Given the description of an element on the screen output the (x, y) to click on. 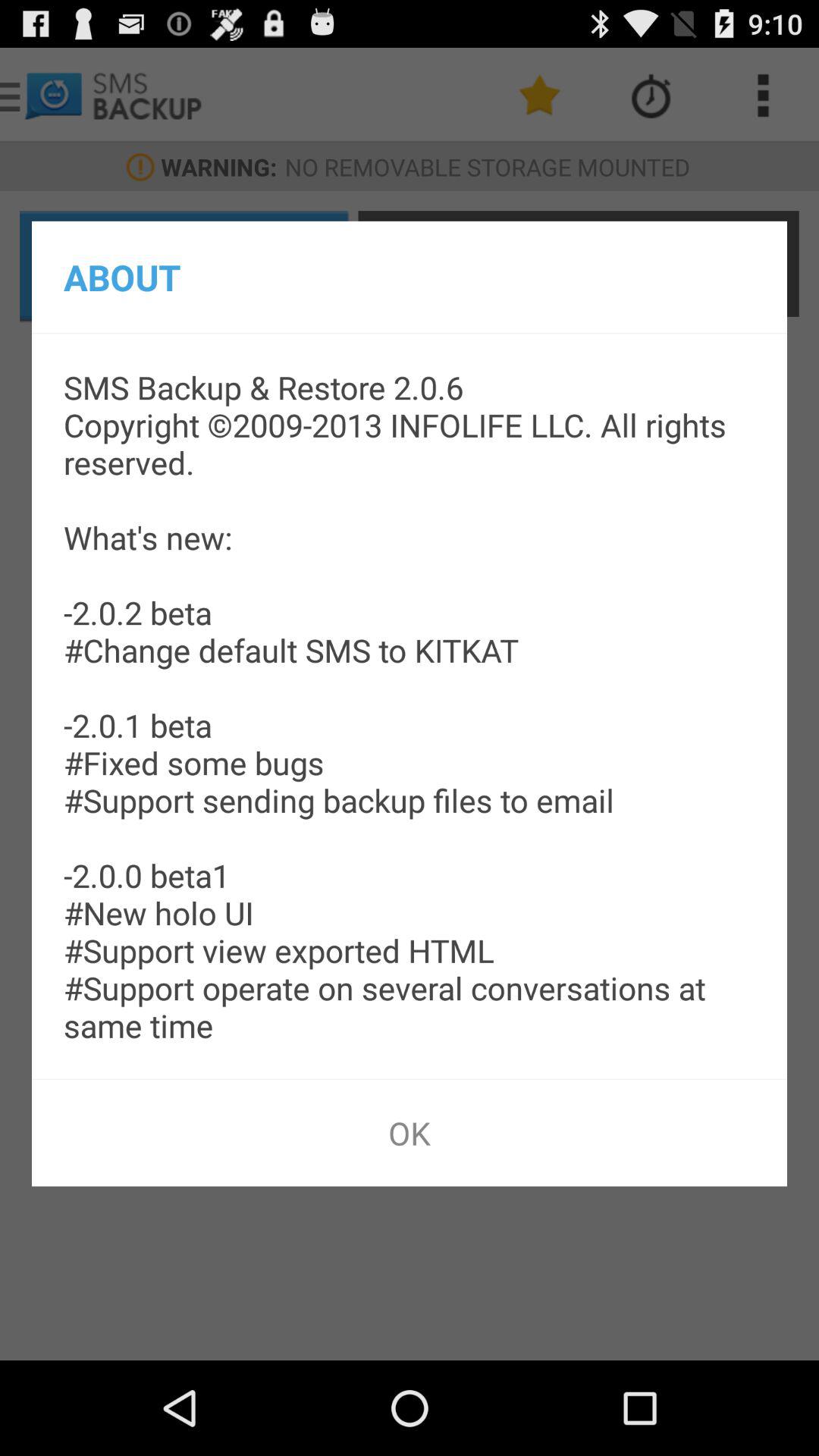
swipe until the ok button (409, 1132)
